Given the description of an element on the screen output the (x, y) to click on. 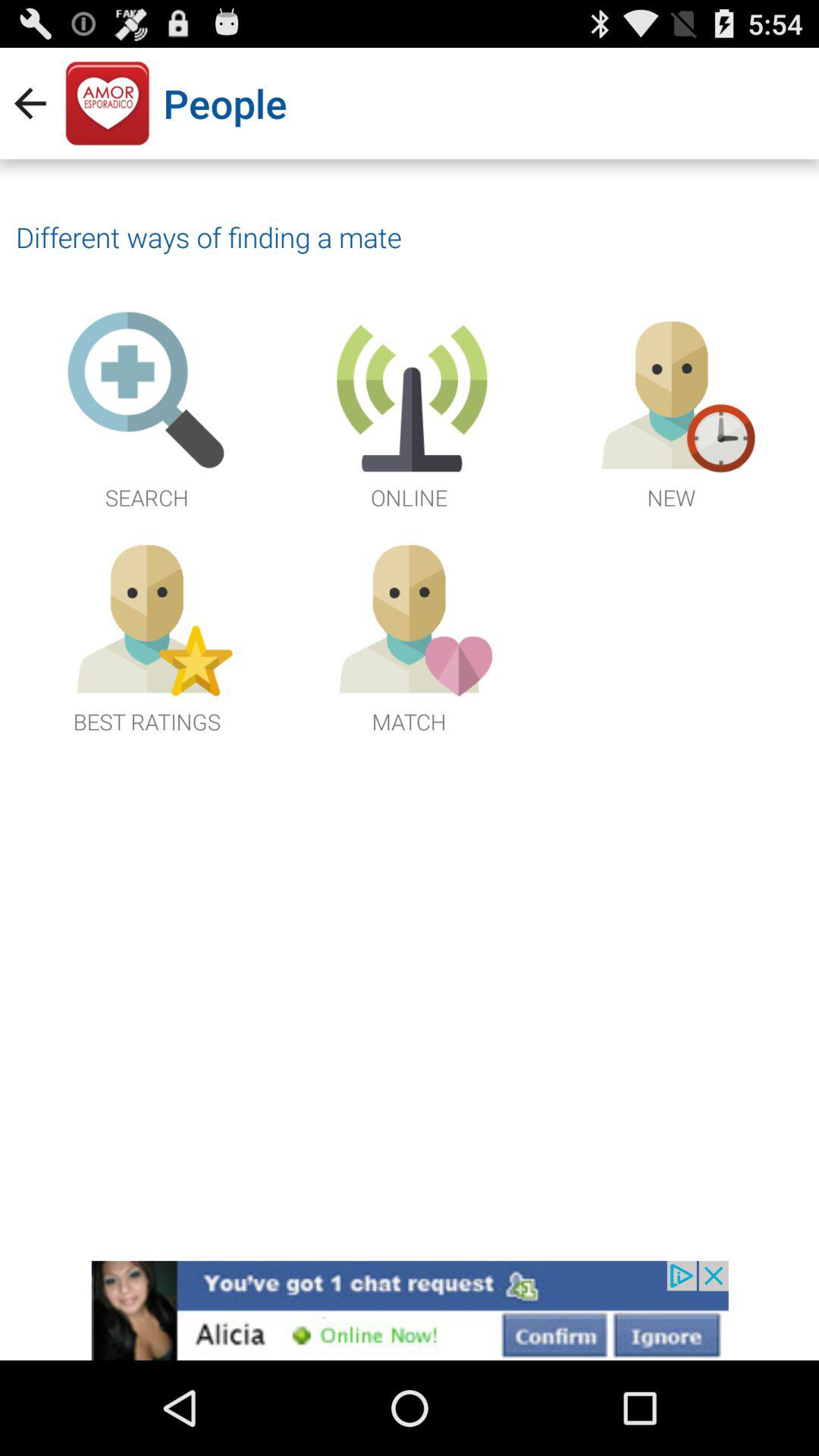
see your best ratings (146, 634)
